Given the description of an element on the screen output the (x, y) to click on. 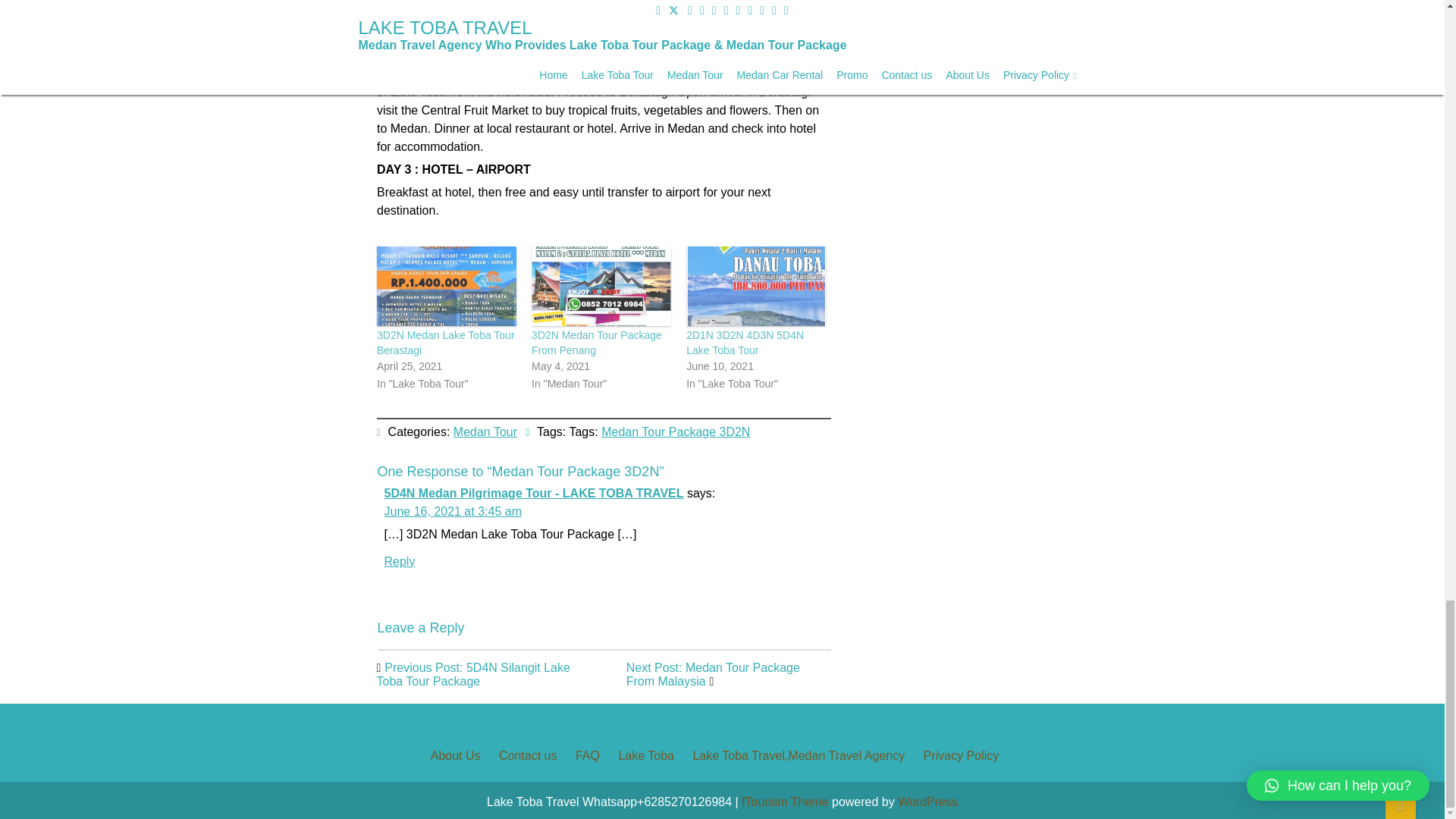
3D2N Medan Lake Toba Tour Berastagi (444, 342)
3D2N Medan Lake Toba Tour Berastagi (445, 285)
3D2N Medan Tour Package From Penang (596, 342)
3D2N Medan Tour Package From Penang (601, 285)
2D1N 3D2N 4D3N 5D4N Lake Toba Tour (744, 342)
3D2N Medan Lake Toba Tour Berastagi (444, 342)
3D2N Medan Tour Package From Penang (596, 342)
